Given the description of an element on the screen output the (x, y) to click on. 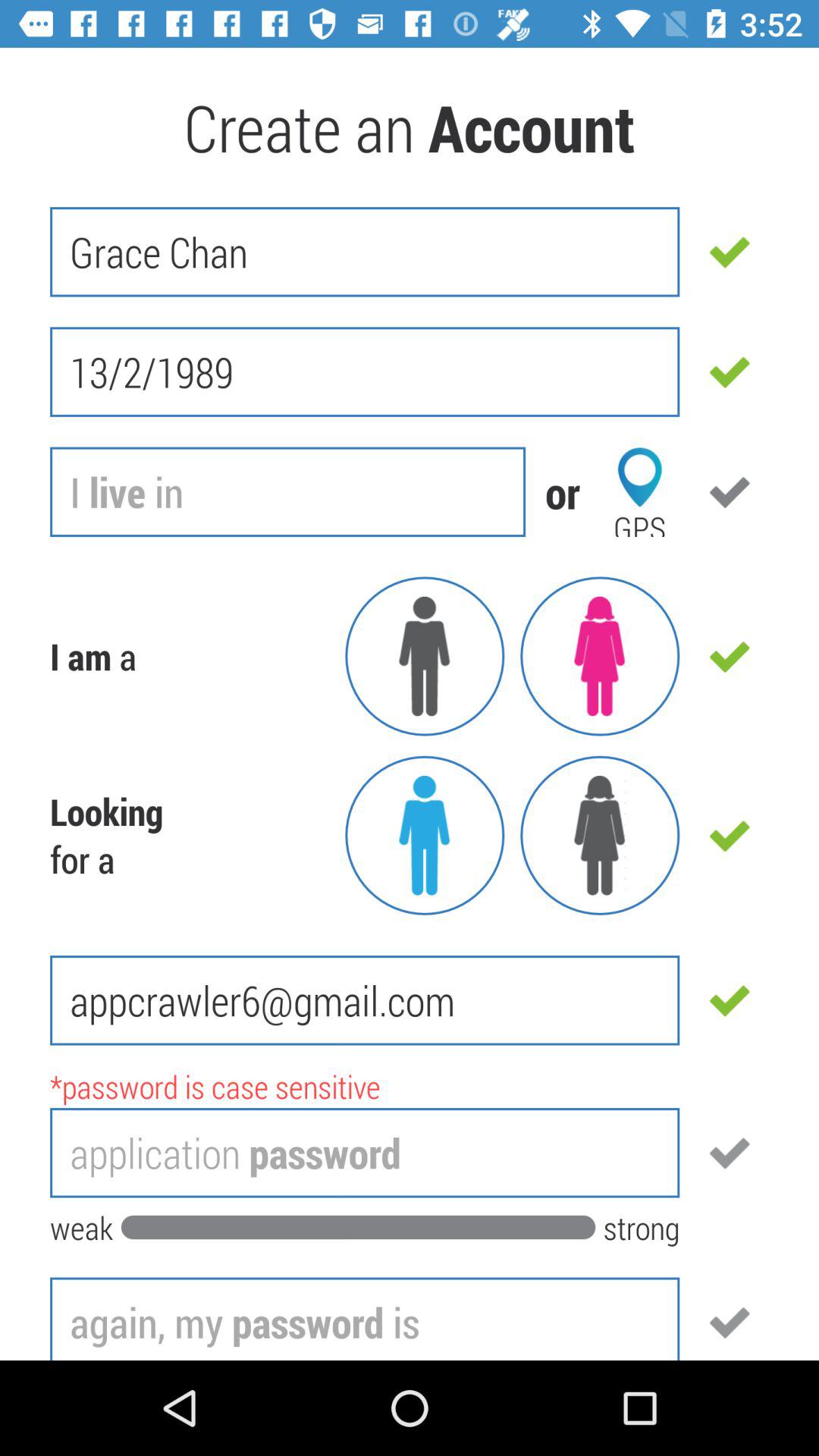
select the tick box beside the pink girl icon (729, 656)
